Given the description of an element on the screen output the (x, y) to click on. 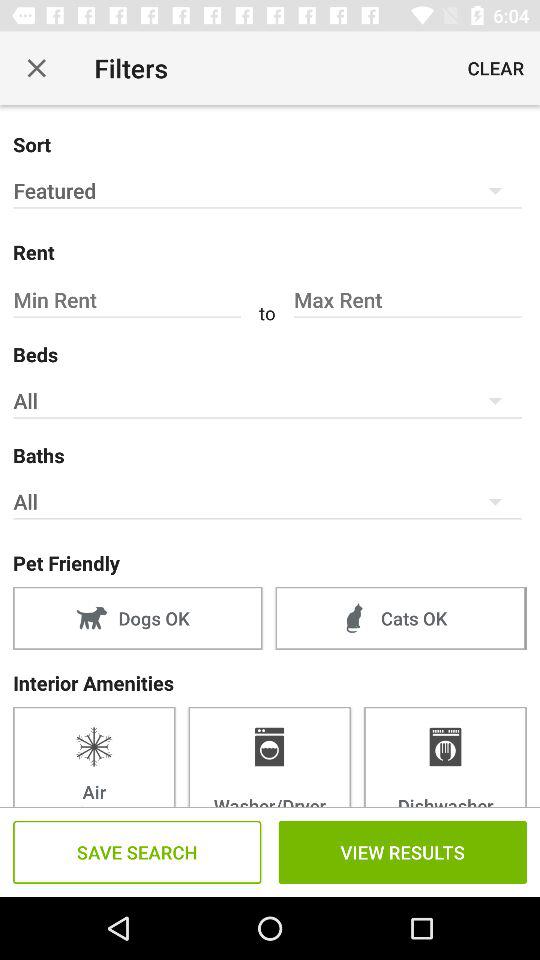
open washer/dryer (269, 756)
